Given the description of an element on the screen output the (x, y) to click on. 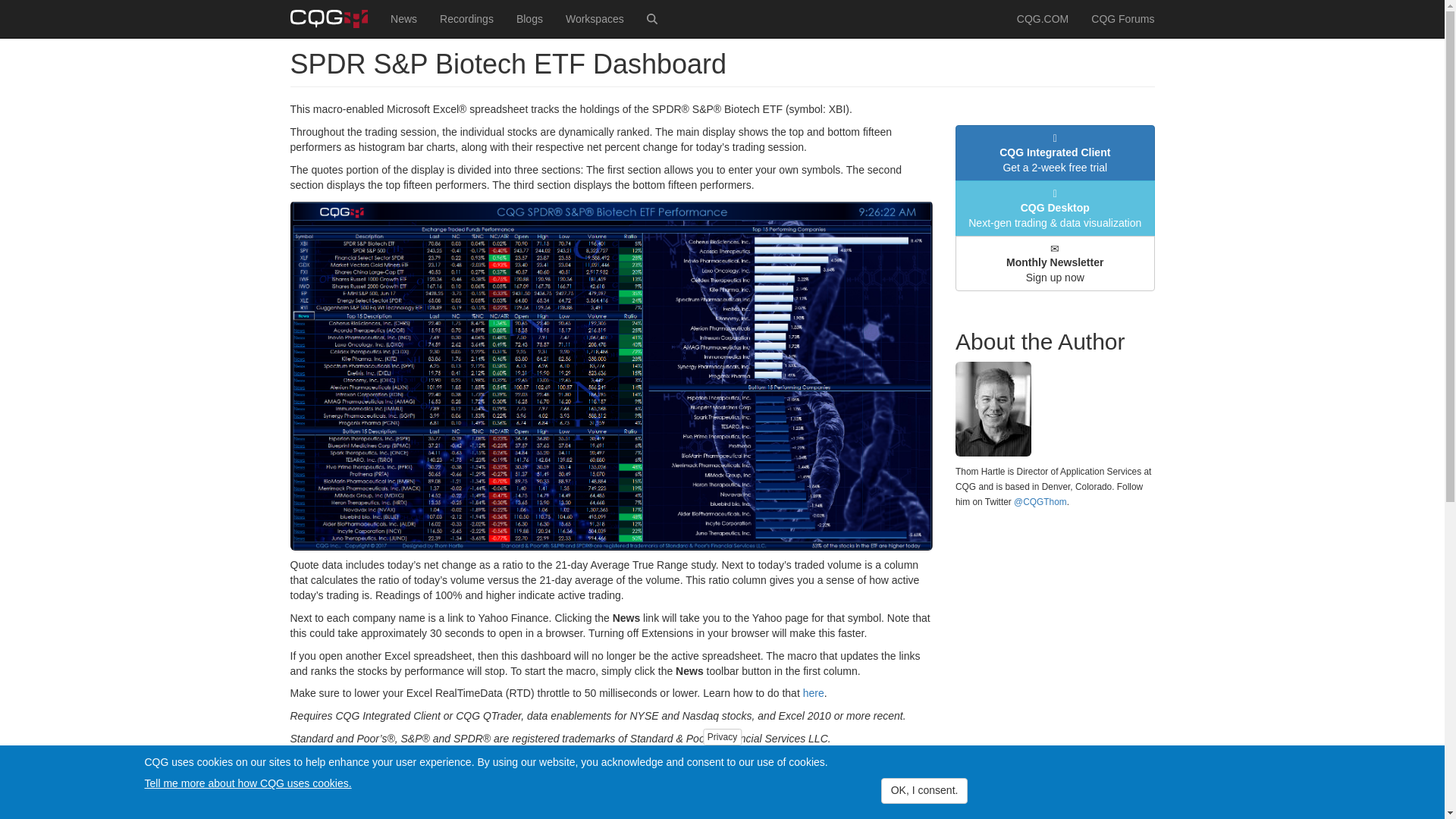
Recordings (466, 18)
CQG.COM (1043, 18)
here (813, 693)
News (403, 18)
Workspaces (594, 18)
Privacy (722, 736)
Blogs (529, 18)
Home (333, 18)
CQG Forums (1123, 18)
